Given the description of an element on the screen output the (x, y) to click on. 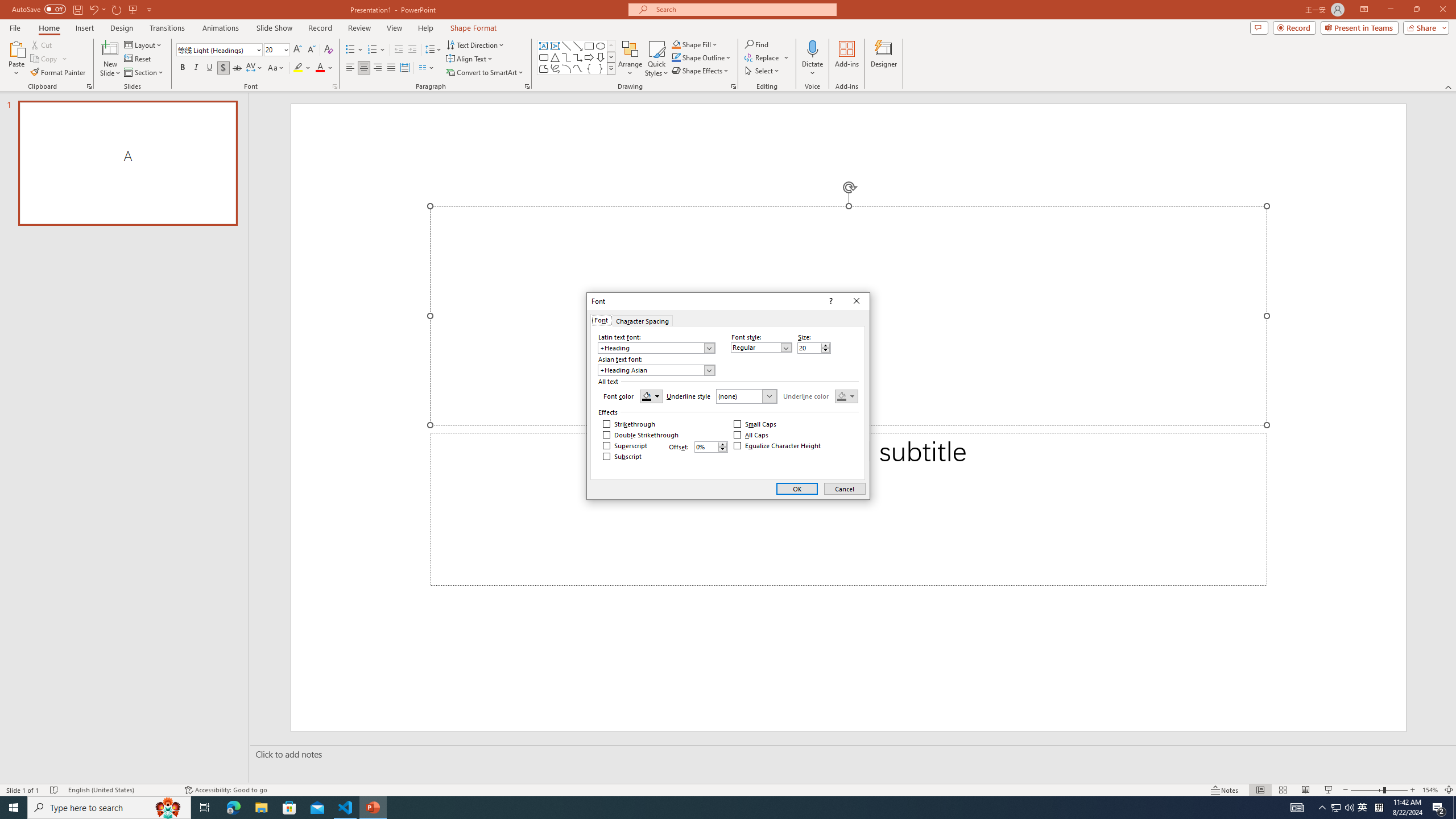
Character Spacing (254, 67)
Double Strikethrough (640, 434)
Underline color (846, 396)
Rectangle (589, 45)
Change Case (276, 67)
Oval (600, 45)
Paragraph... (526, 85)
Underline style (746, 396)
Align Text (470, 58)
More (722, 444)
Format Painter (58, 72)
Font style (761, 347)
